Given the description of an element on the screen output the (x, y) to click on. 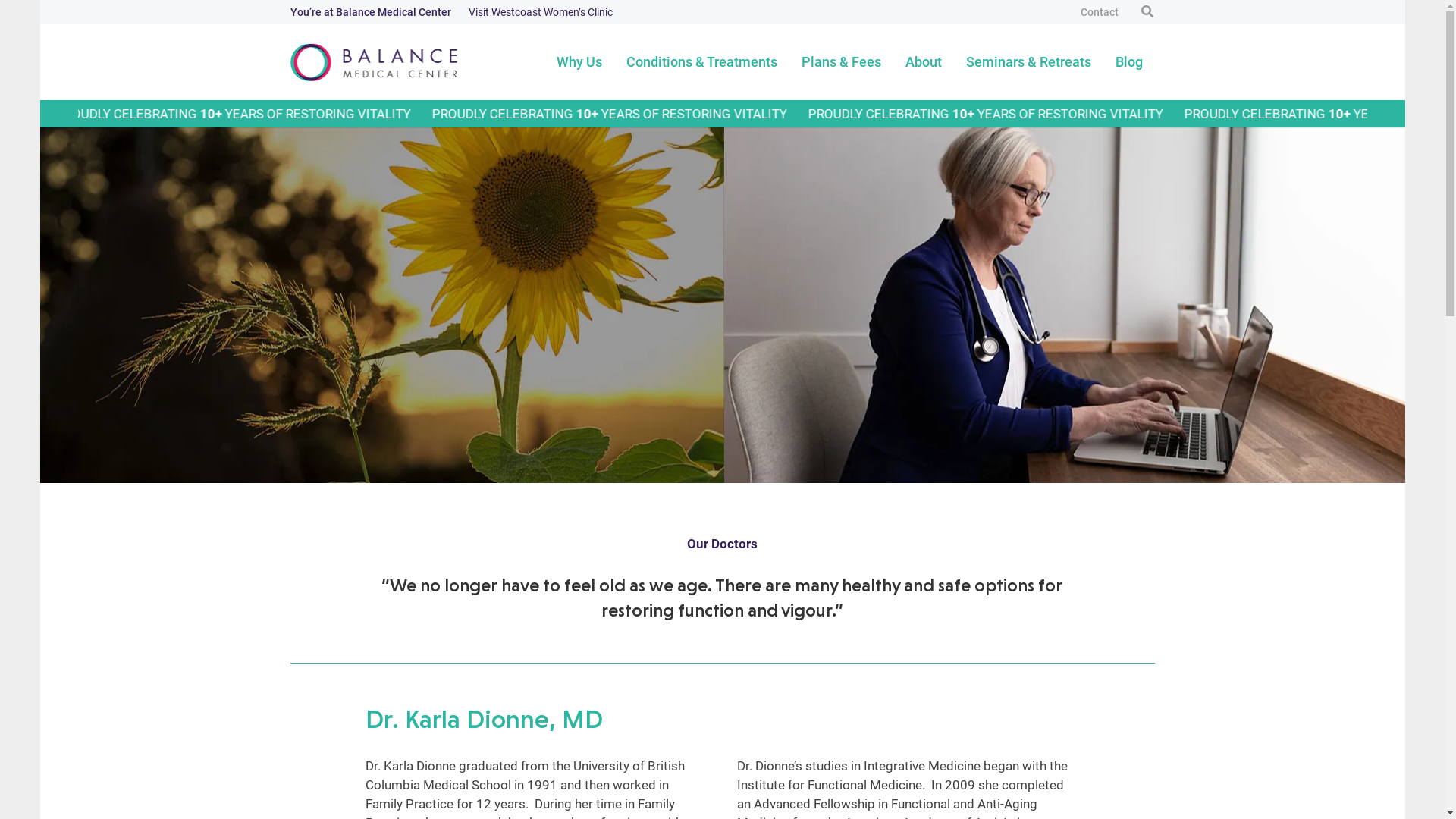
Plans & Fees Element type: text (840, 62)
About Element type: text (923, 62)
Conditions & Treatments Element type: text (701, 62)
Seminars & Retreats Element type: text (1028, 62)
Why Us Element type: text (579, 62)
Contact Element type: text (1099, 12)
Blog Element type: text (1128, 62)
